Given the description of an element on the screen output the (x, y) to click on. 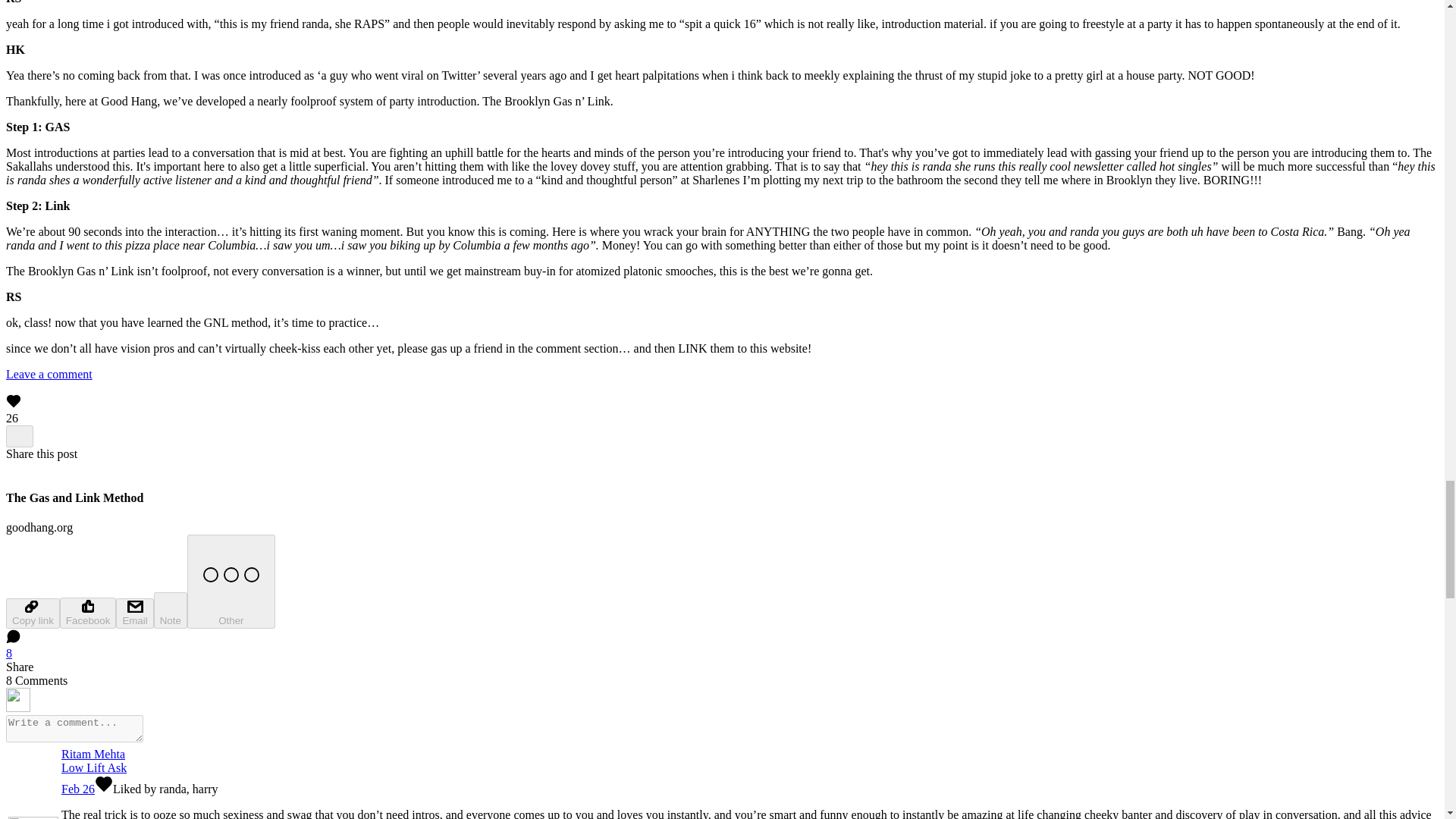
Leave a comment (49, 373)
Note (170, 610)
Facebook (87, 612)
Email (134, 613)
Low Lift Ask (93, 767)
Copy link (32, 613)
Other (231, 581)
